Given the description of an element on the screen output the (x, y) to click on. 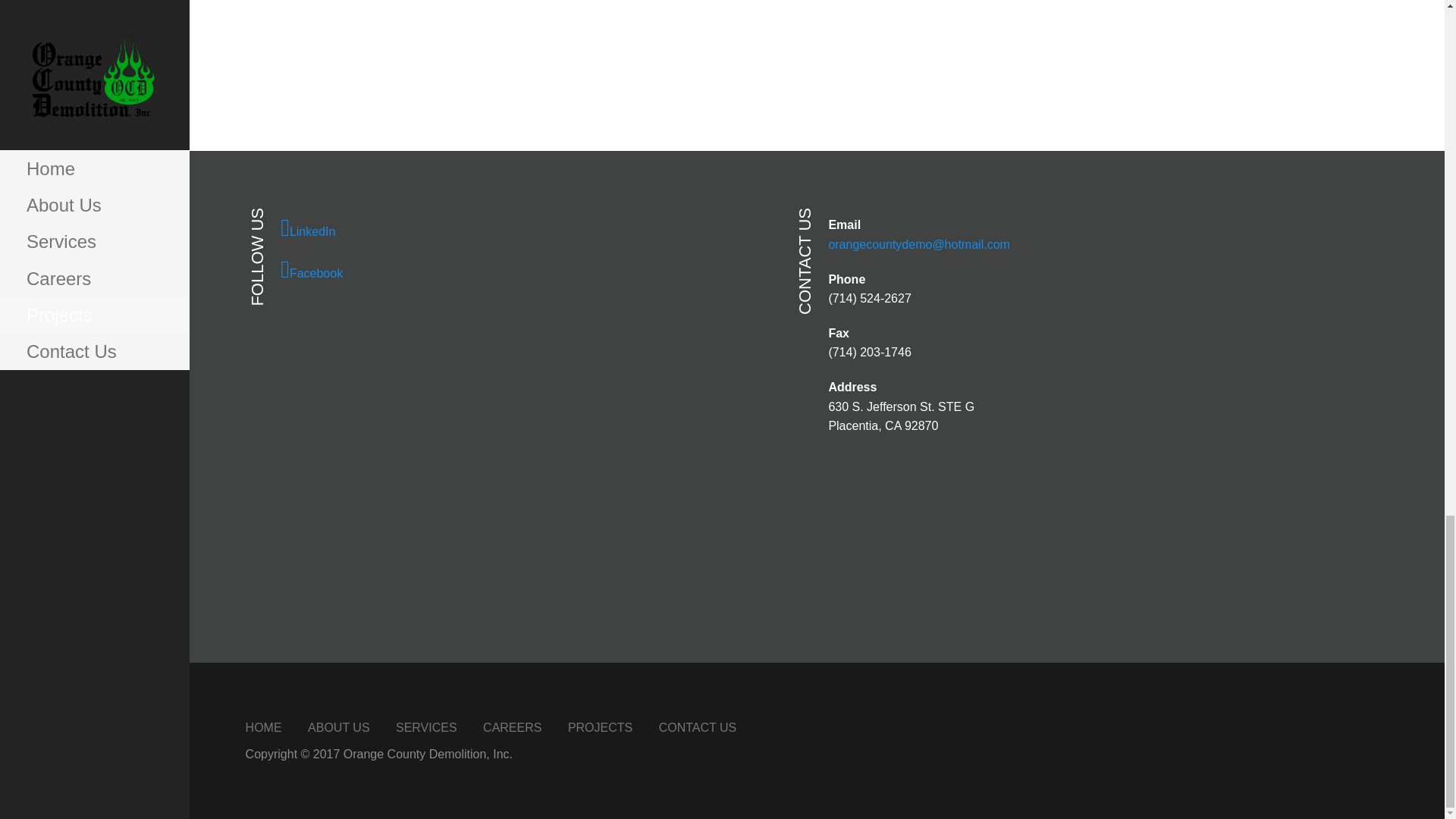
HOME (264, 727)
LinkedIn (520, 228)
Visit  on Facebook (520, 270)
SERVICES (426, 727)
Visit  on LinkedIn (520, 228)
CONTACT US (697, 727)
PROJECTS (599, 727)
CAREERS (512, 727)
ABOUT US (338, 727)
Facebook (520, 270)
